Given the description of an element on the screen output the (x, y) to click on. 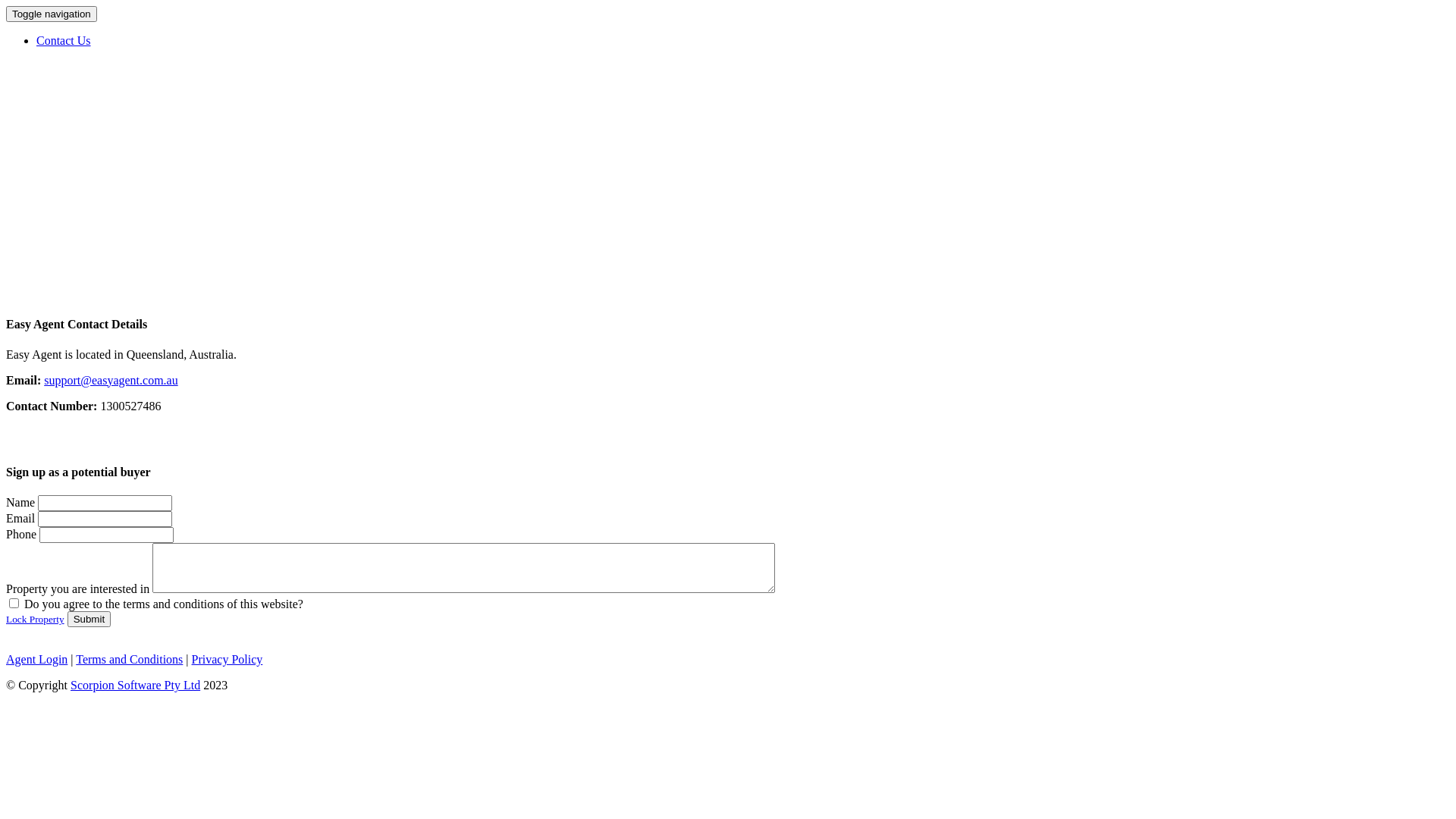
support@easyagent.com.au Element type: text (110, 379)
Toggle navigation Element type: text (51, 13)
Submit Element type: text (88, 619)
Privacy Policy Element type: text (227, 658)
Lock Property Element type: text (35, 618)
Contact Us Element type: text (63, 40)
Scorpion Software Pty Ltd Element type: text (135, 684)
Terms and Conditions Element type: text (128, 658)
Agent Login Element type: text (36, 658)
